Given the description of an element on the screen output the (x, y) to click on. 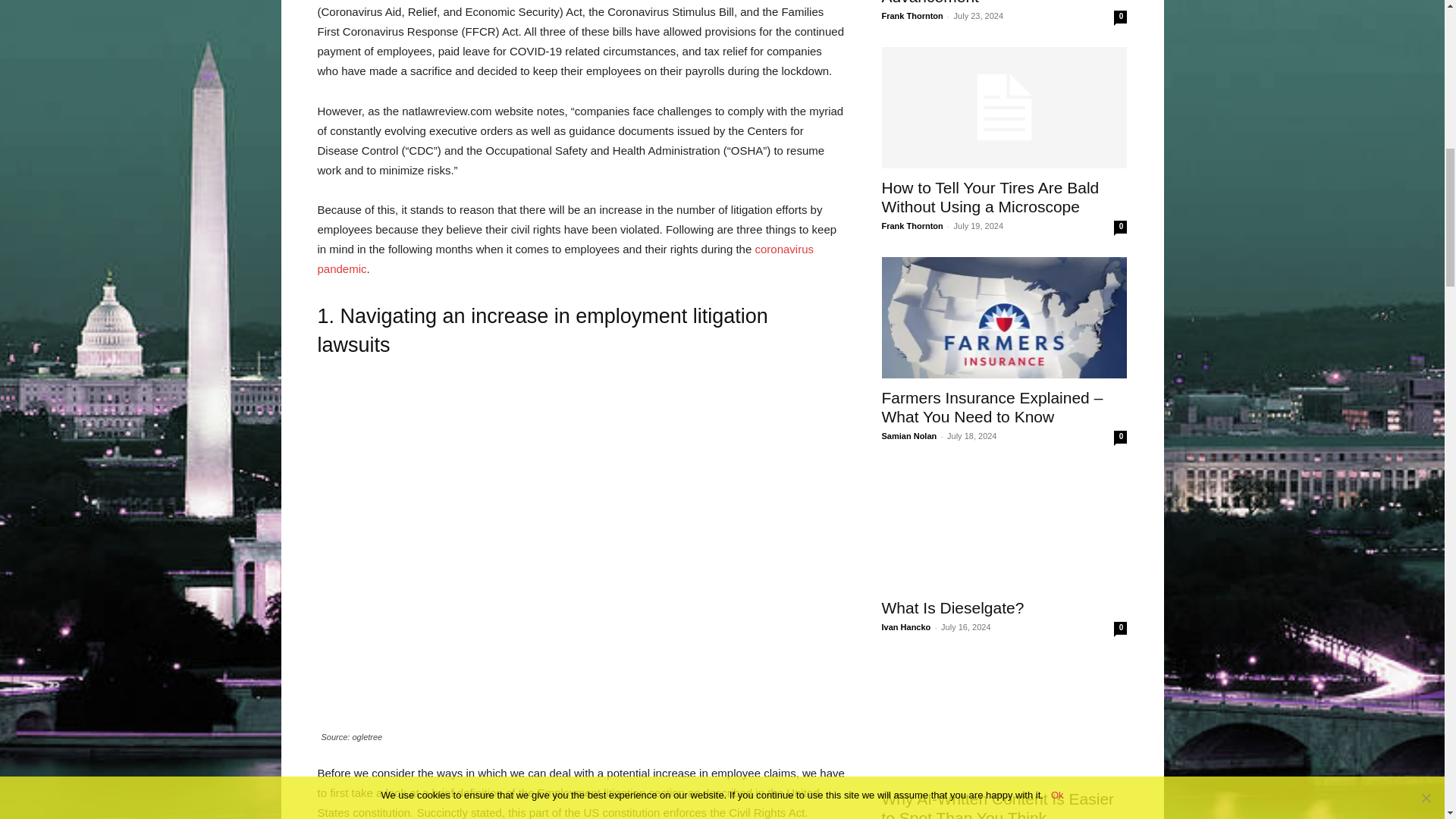
coronavirus pandemic (565, 258)
